Given the description of an element on the screen output the (x, y) to click on. 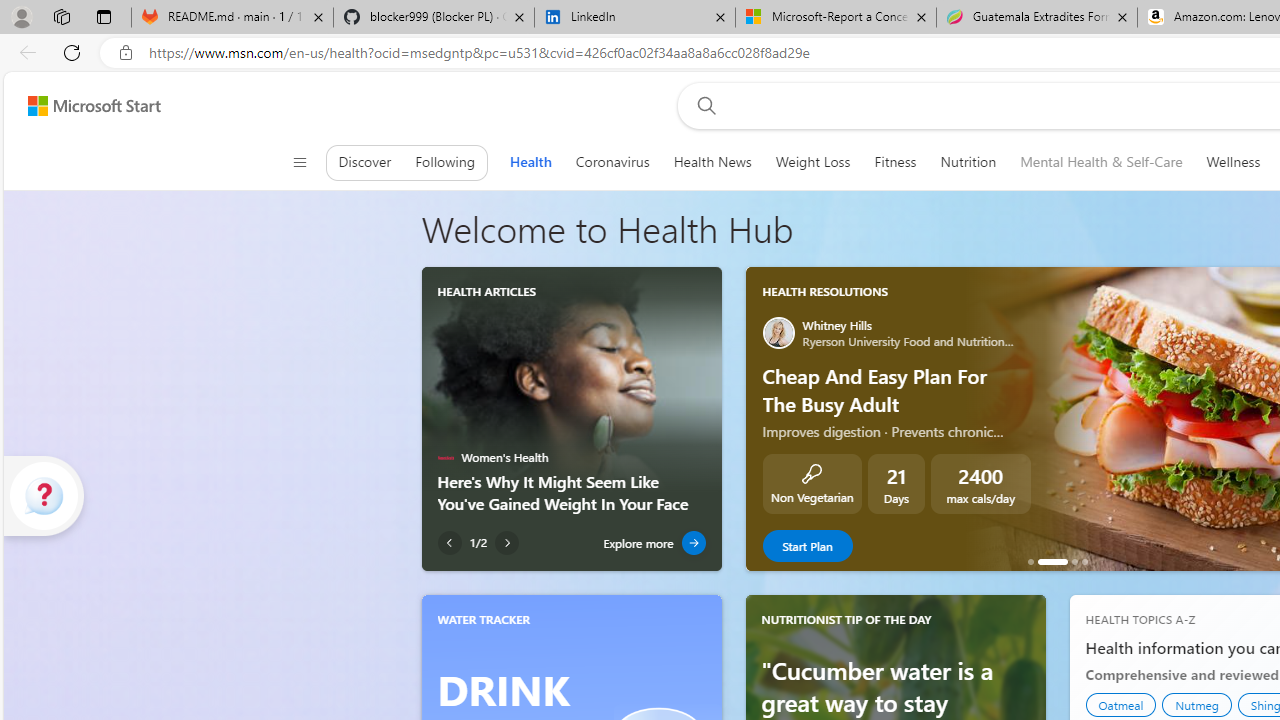
Wellness (1233, 162)
Wellness (1233, 161)
Previous Slide (759, 418)
Coronavirus (612, 162)
